Given the description of an element on the screen output the (x, y) to click on. 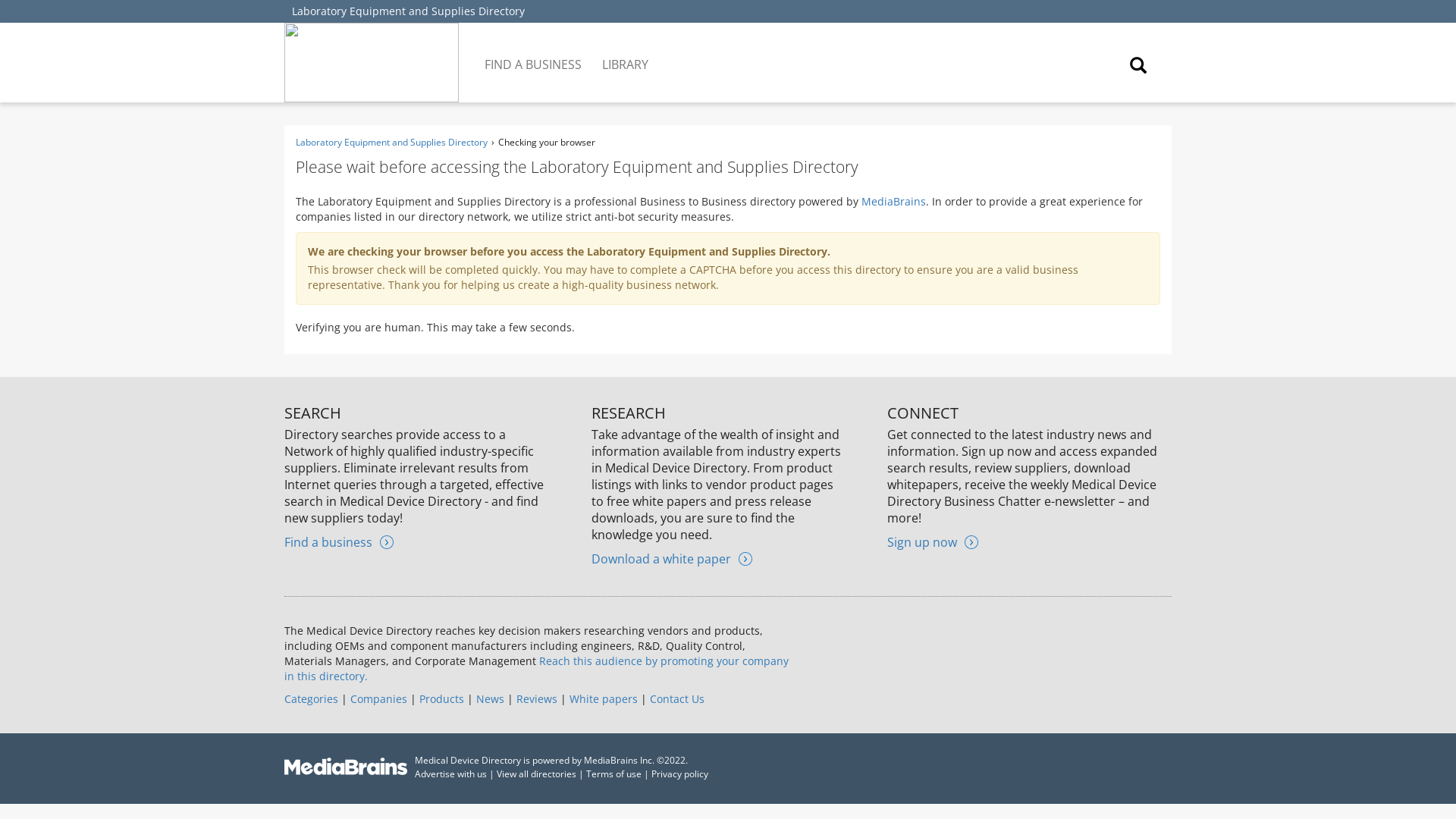
Laboratory Equipment and Supplies Directory (407, 11)
News (489, 698)
View all directories (536, 773)
Privacy policy (678, 773)
MediaBrains (893, 201)
Terms of use (614, 773)
White papers (603, 698)
Download a white paper (671, 558)
Companies (378, 698)
Products (441, 698)
Categories (310, 698)
FIND A BUSINESS (534, 52)
Find a business (338, 541)
Laboratory Equipment and Supplies Directory (391, 141)
